Given the description of an element on the screen output the (x, y) to click on. 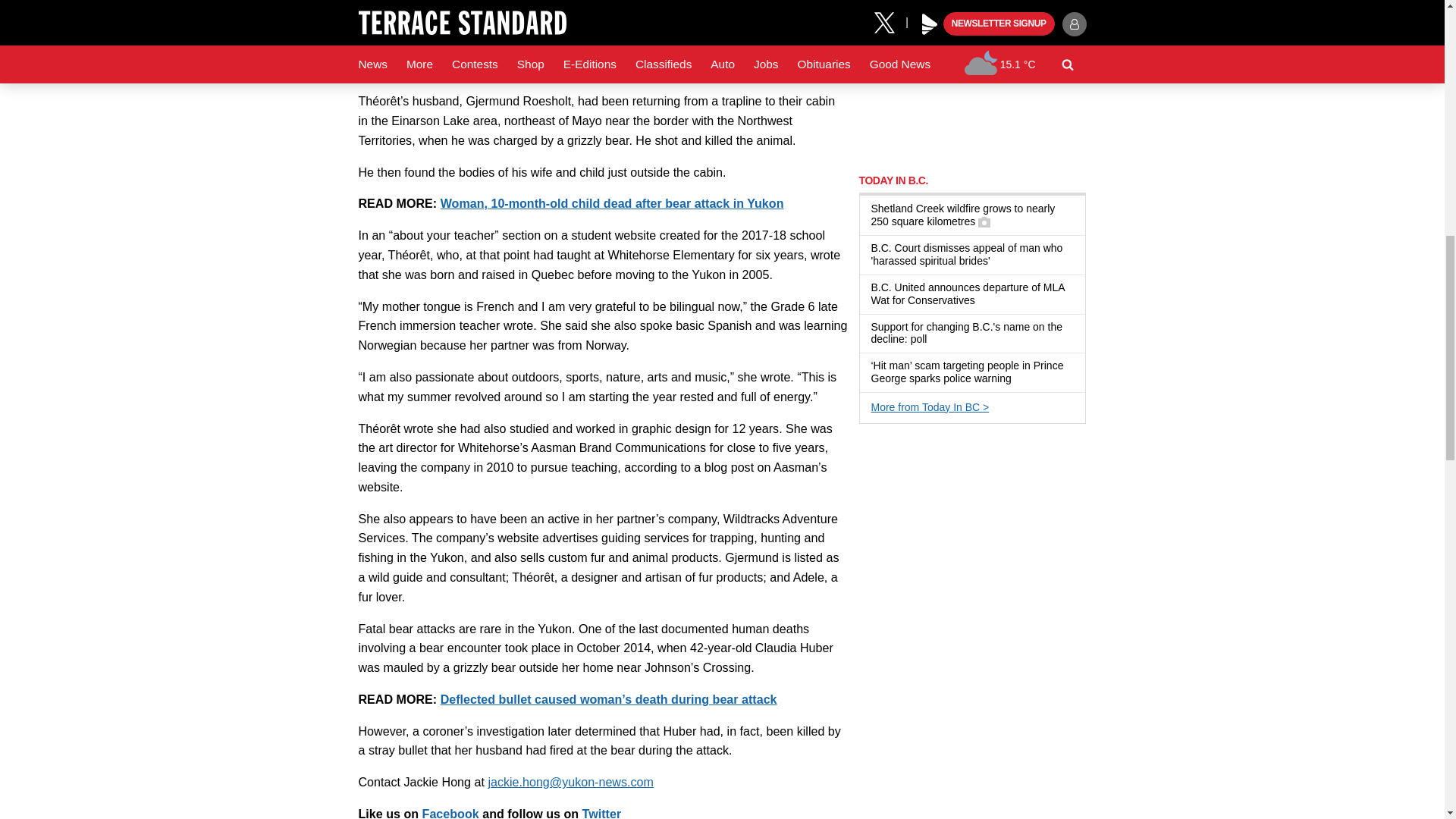
Has a gallery (984, 222)
